Given the description of an element on the screen output the (x, y) to click on. 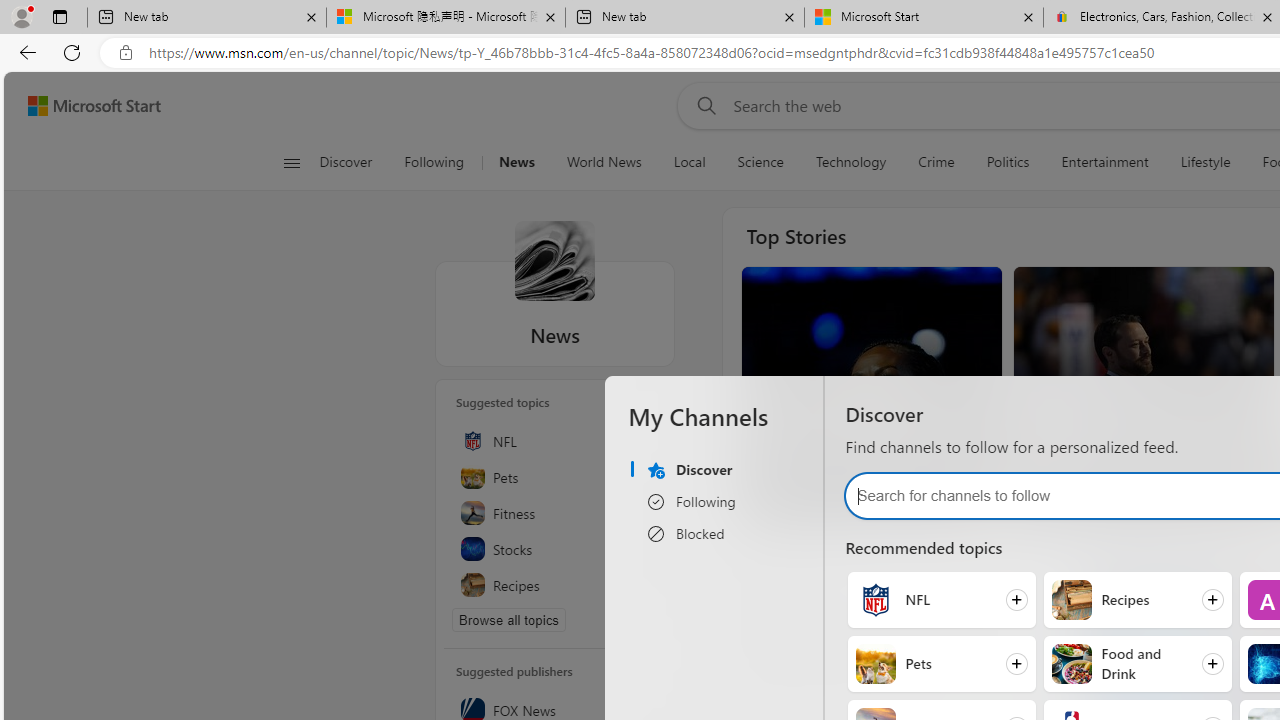
Recipes (1070, 599)
NFL (875, 599)
Following (434, 162)
Microsoft Start (94, 105)
Discover (345, 162)
Following (433, 162)
Follow this topic (645, 585)
Michelle Obama lifts up Harris while lambasting Trump (870, 438)
Entertainment (1104, 162)
Crime (935, 162)
Follow Pets (941, 663)
Follow this source (645, 710)
